Given the description of an element on the screen output the (x, y) to click on. 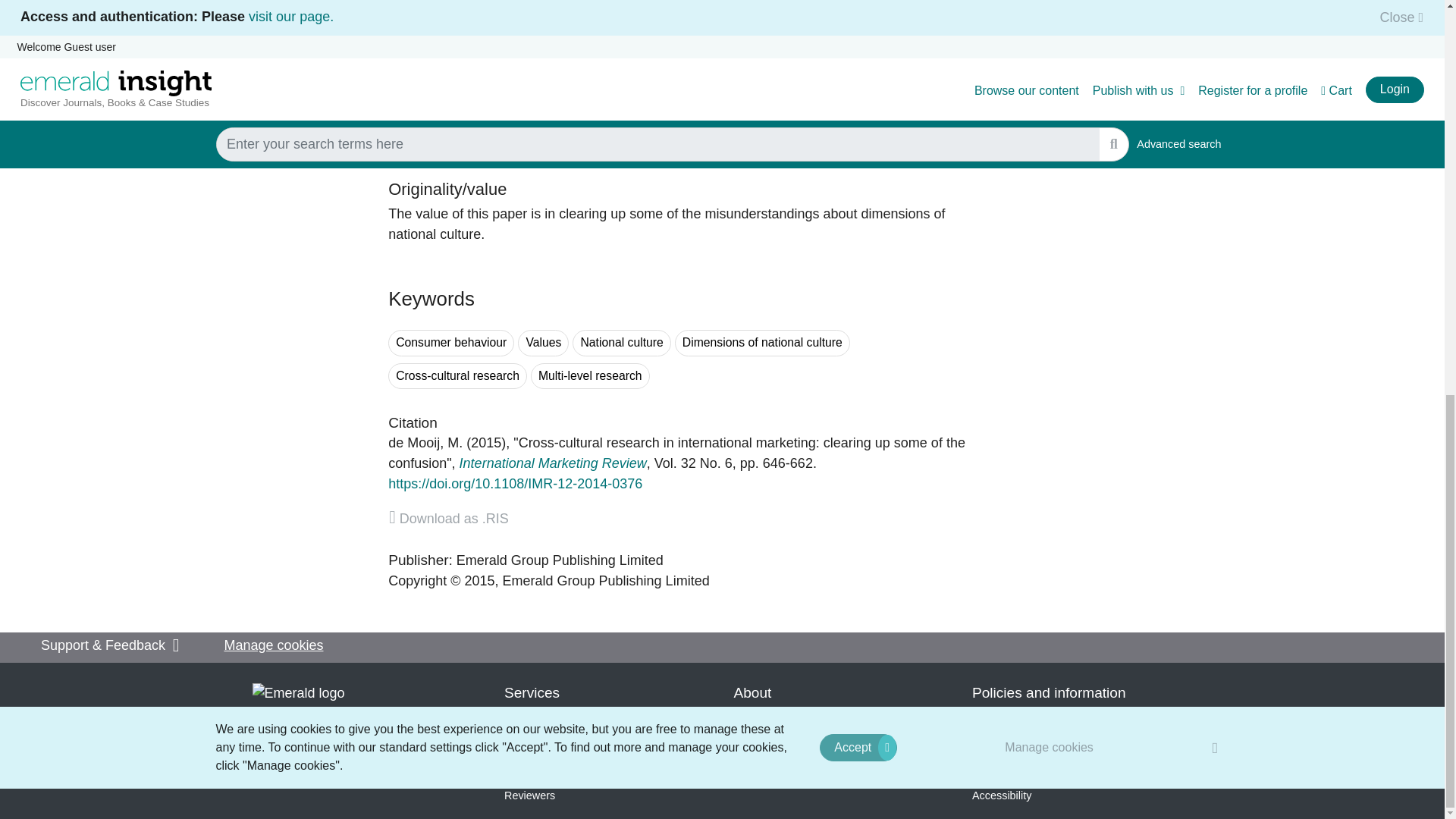
Search for keyword Consumer behaviour (450, 343)
Search for keyword Values (543, 343)
Search for keyword Cross-cultural research (457, 376)
Search for keyword Dimensions of national culture (762, 343)
Search for keyword National culture (620, 343)
Marieke de Mooij (425, 442)
Manage cookies (1049, 0)
Search for keyword Multi-level research (590, 376)
